Given the description of an element on the screen output the (x, y) to click on. 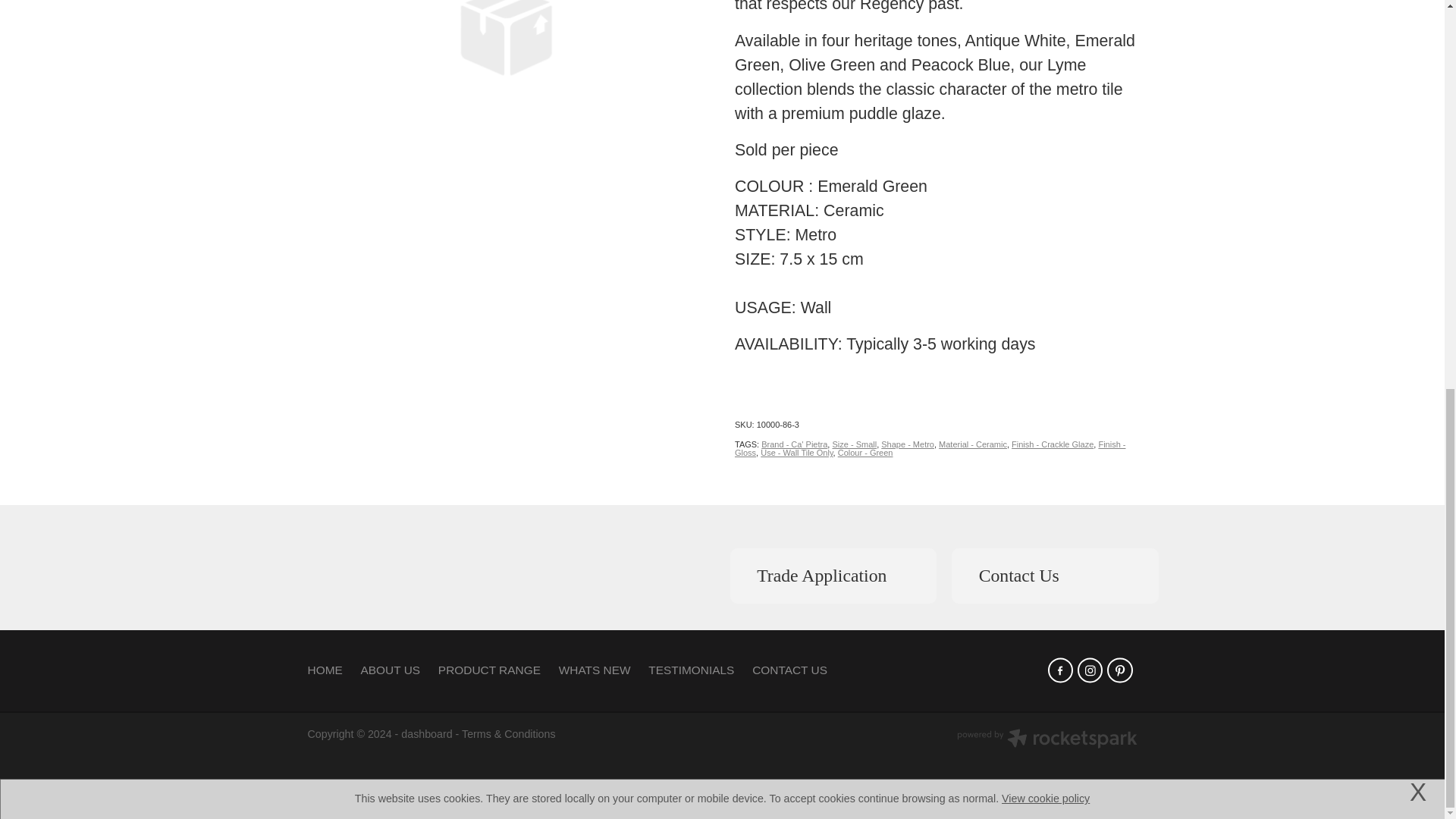
Finish - Crackle Glaze (1052, 443)
Material - Ceramic (973, 443)
Shape - Metro (907, 443)
Use - Wall Tile Only (796, 452)
Rocketspark website builder (1046, 740)
A link to this website's Pinterest. (1119, 669)
A link to this website's Facebook. (1060, 669)
Size - Small (853, 443)
A link to this website's Instagram. (1089, 669)
Brand - Ca' Pietra (794, 443)
Finish - Gloss (930, 448)
